Given the description of an element on the screen output the (x, y) to click on. 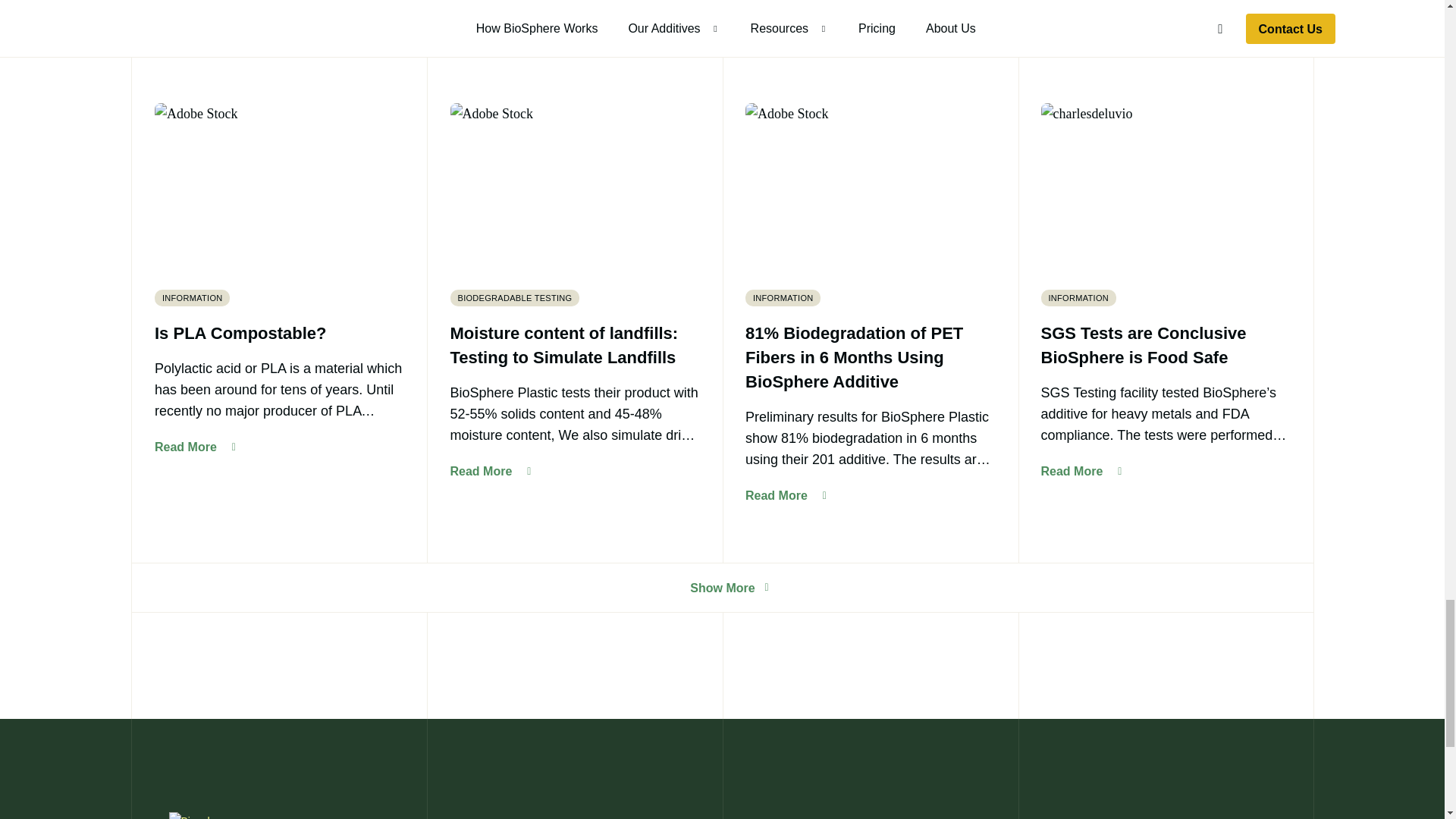
Is PLA Compostable? (279, 333)
INFORMATION (194, 447)
INFORMATION (783, 297)
INFORMATION (192, 297)
Moisture content of landfills: Testing to Simulate Landfills (1078, 297)
BIODEGRADABLE TESTING (574, 345)
